Given the description of an element on the screen output the (x, y) to click on. 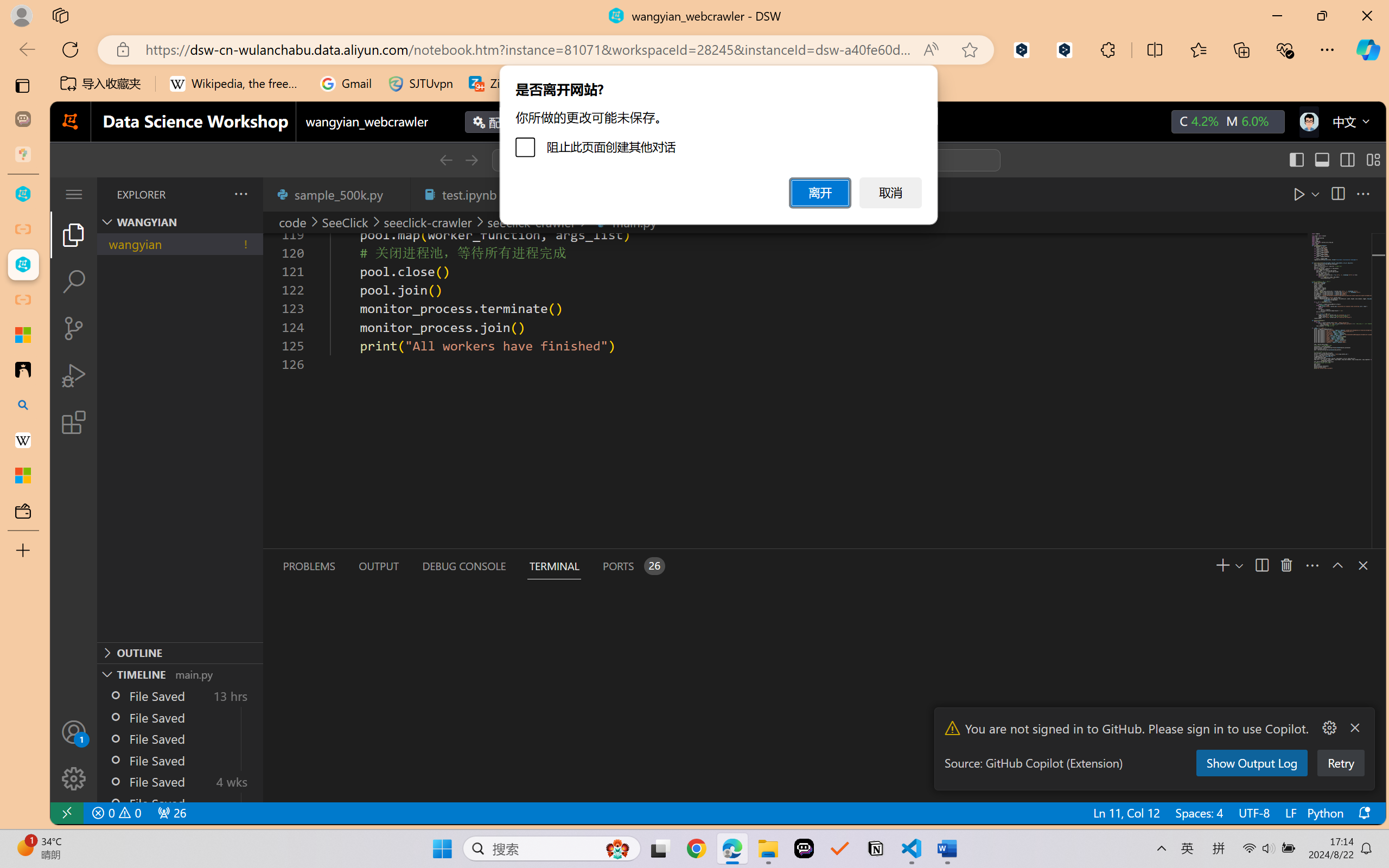
Show Output Log (1251, 762)
Title actions (1333, 159)
Run and Debug (Ctrl+Shift+D) (73, 375)
Run Python File (1273, 193)
Split Editor Right (Ctrl+\) [Alt] Split Editor Down (1337, 193)
Output (Ctrl+Shift+U) (377, 565)
Outline Section (179, 652)
More Actions... (1328, 727)
Run or Debug... (1288, 193)
